Given the description of an element on the screen output the (x, y) to click on. 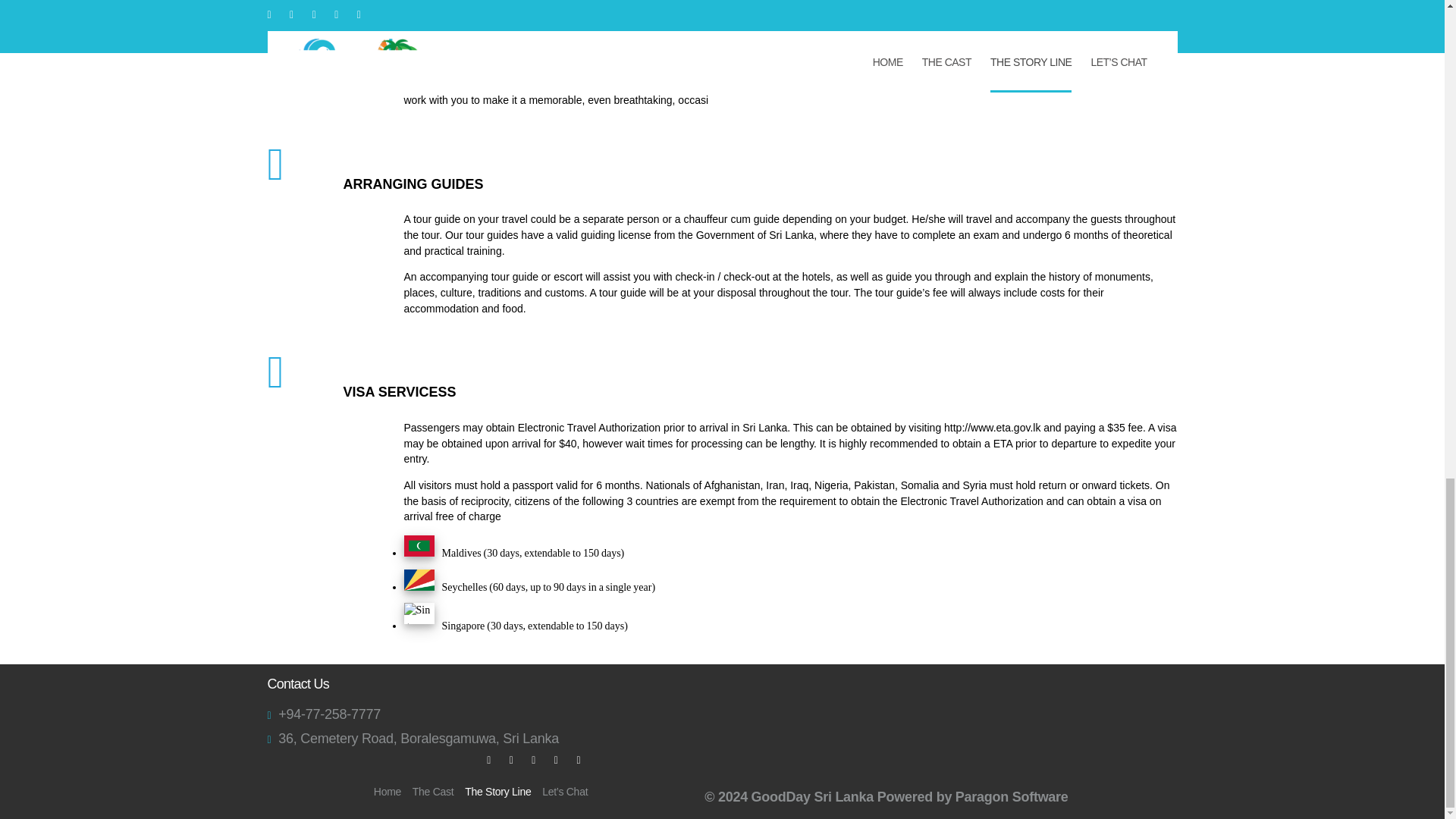
The Story Line (497, 794)
The Cast (433, 791)
Home (387, 791)
Powered by Paragon Software (972, 796)
GoodDay Sri Lanka (812, 796)
